Given the description of an element on the screen output the (x, y) to click on. 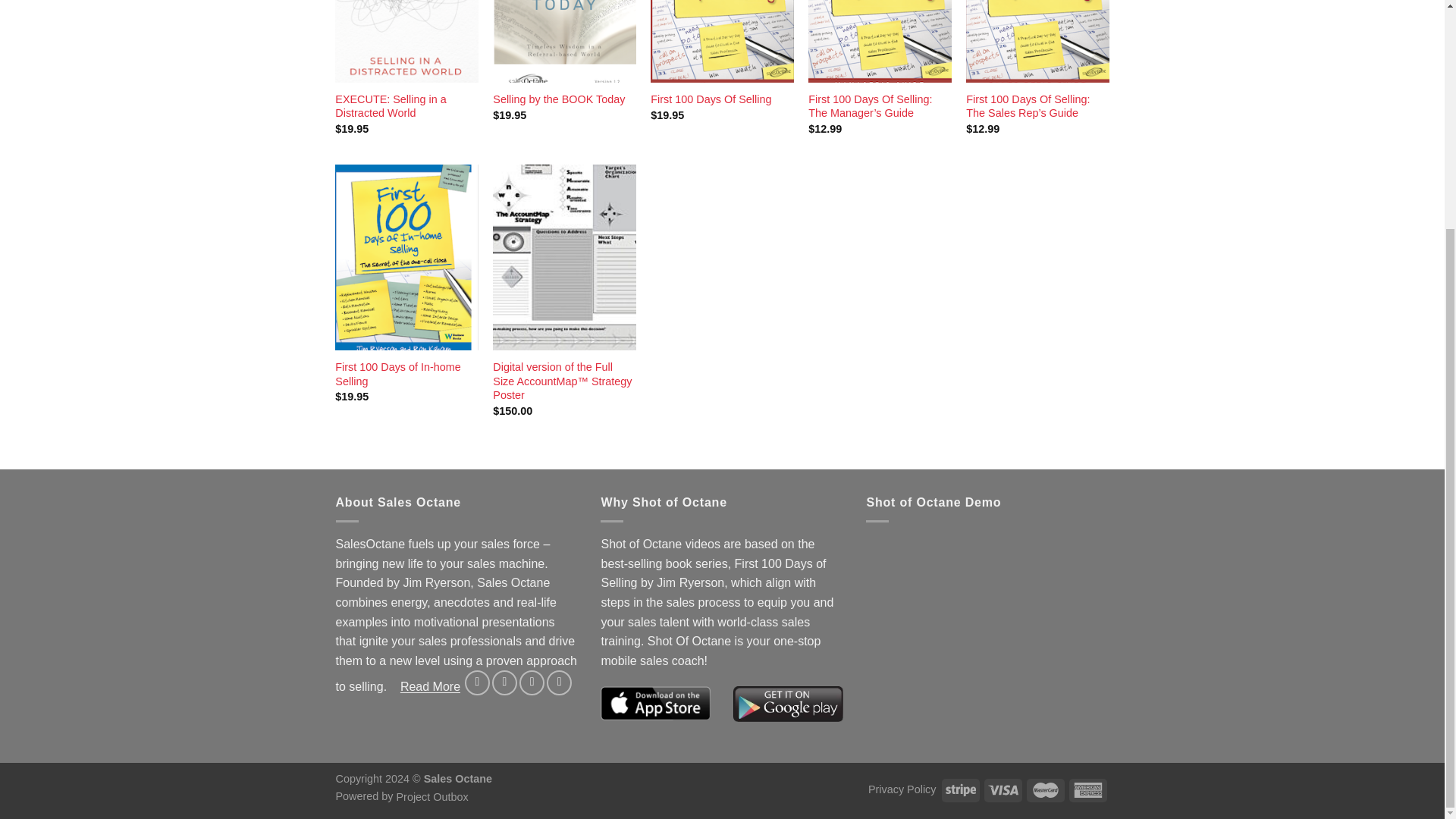
Follow on Twitter (504, 682)
Follow on Facebook (476, 682)
Follow on LinkedIn (559, 682)
Send us an email (531, 682)
